Given the description of an element on the screen output the (x, y) to click on. 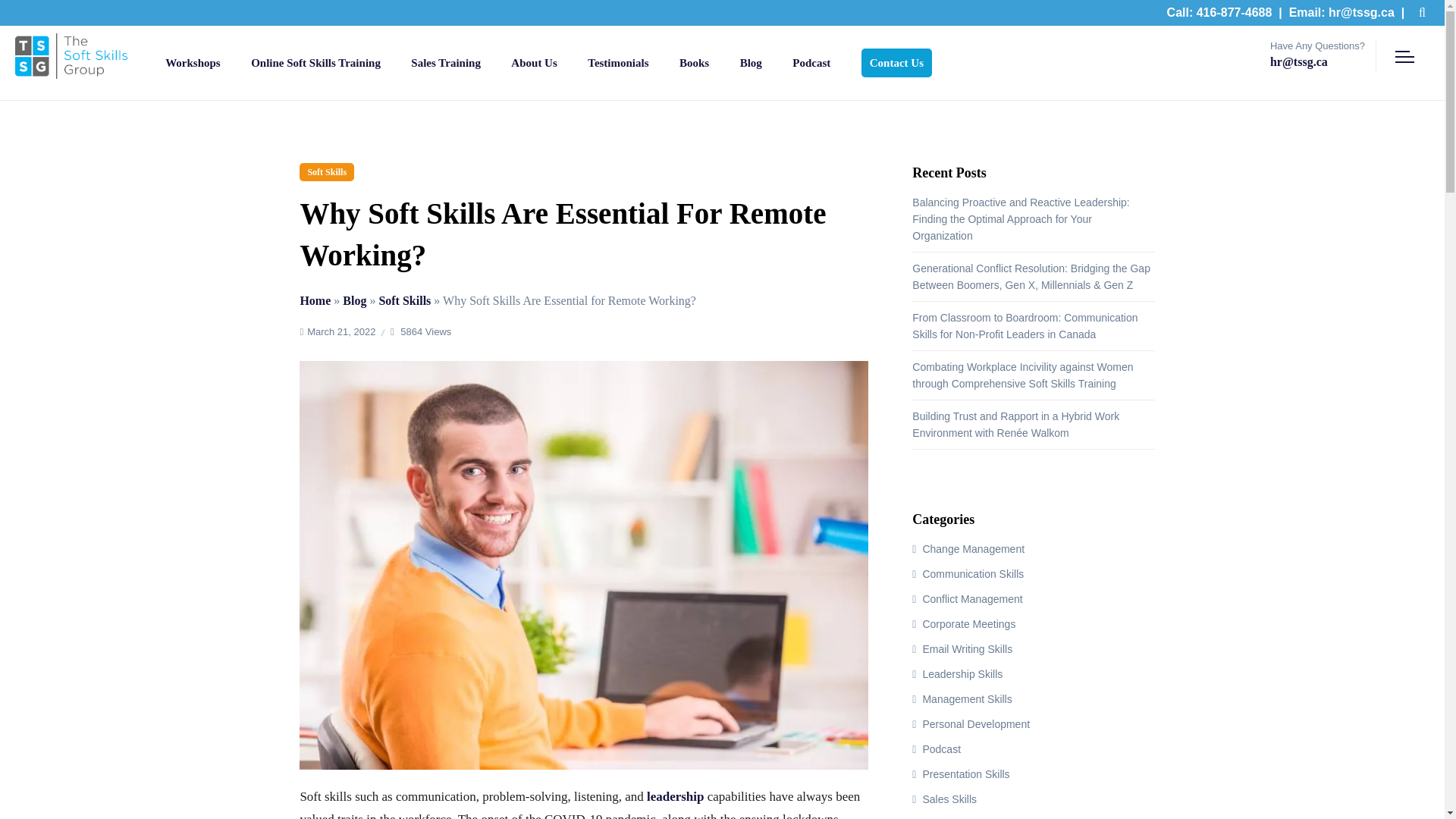
Testimonials (617, 62)
Sales Training (445, 62)
Books (694, 62)
Call: 416-877-4688 (1219, 11)
Online Soft Skills Training (315, 62)
Workshops (193, 62)
About Us (533, 62)
